Given the description of an element on the screen output the (x, y) to click on. 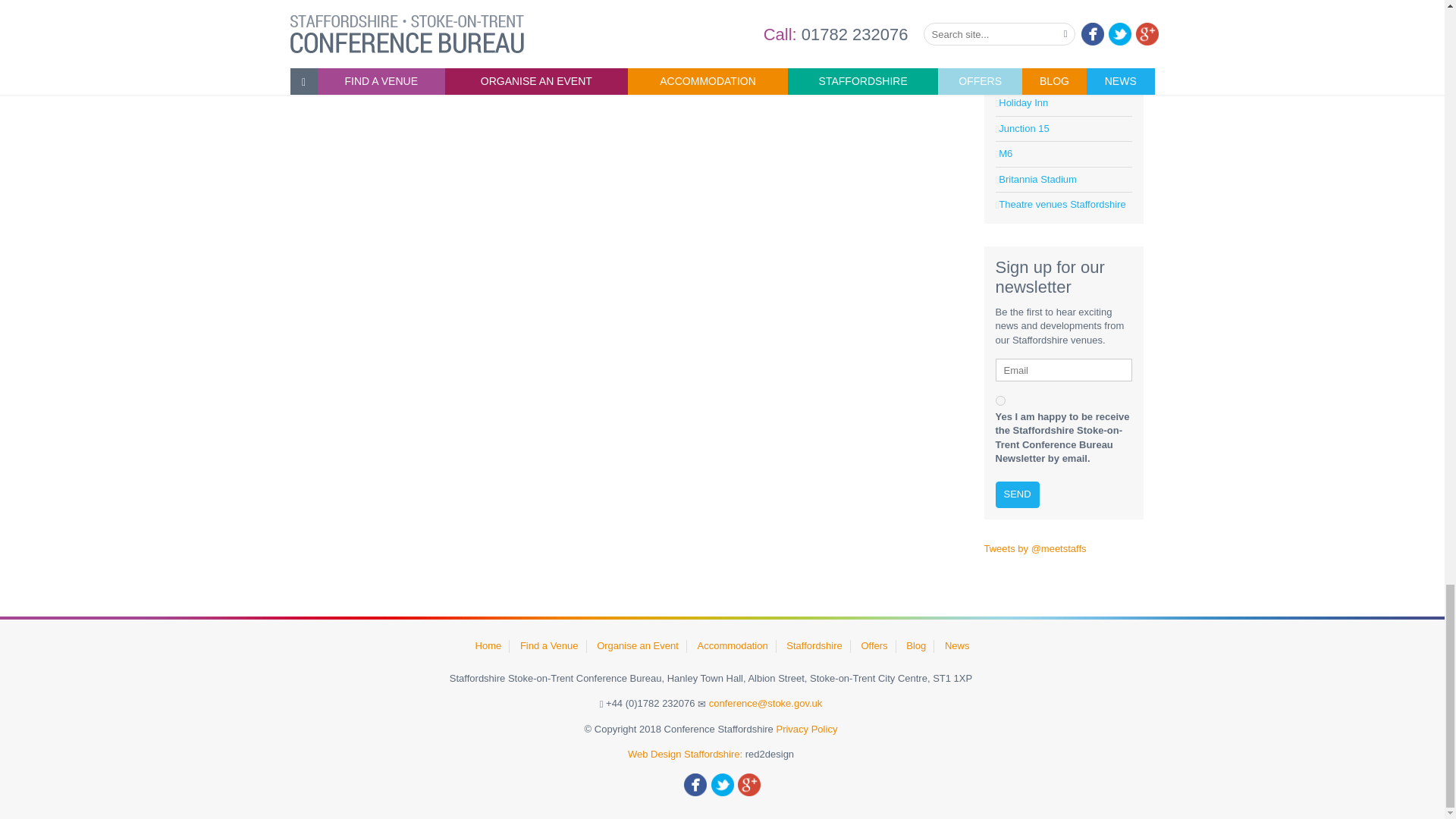
Send (1016, 494)
